Given the description of an element on the screen output the (x, y) to click on. 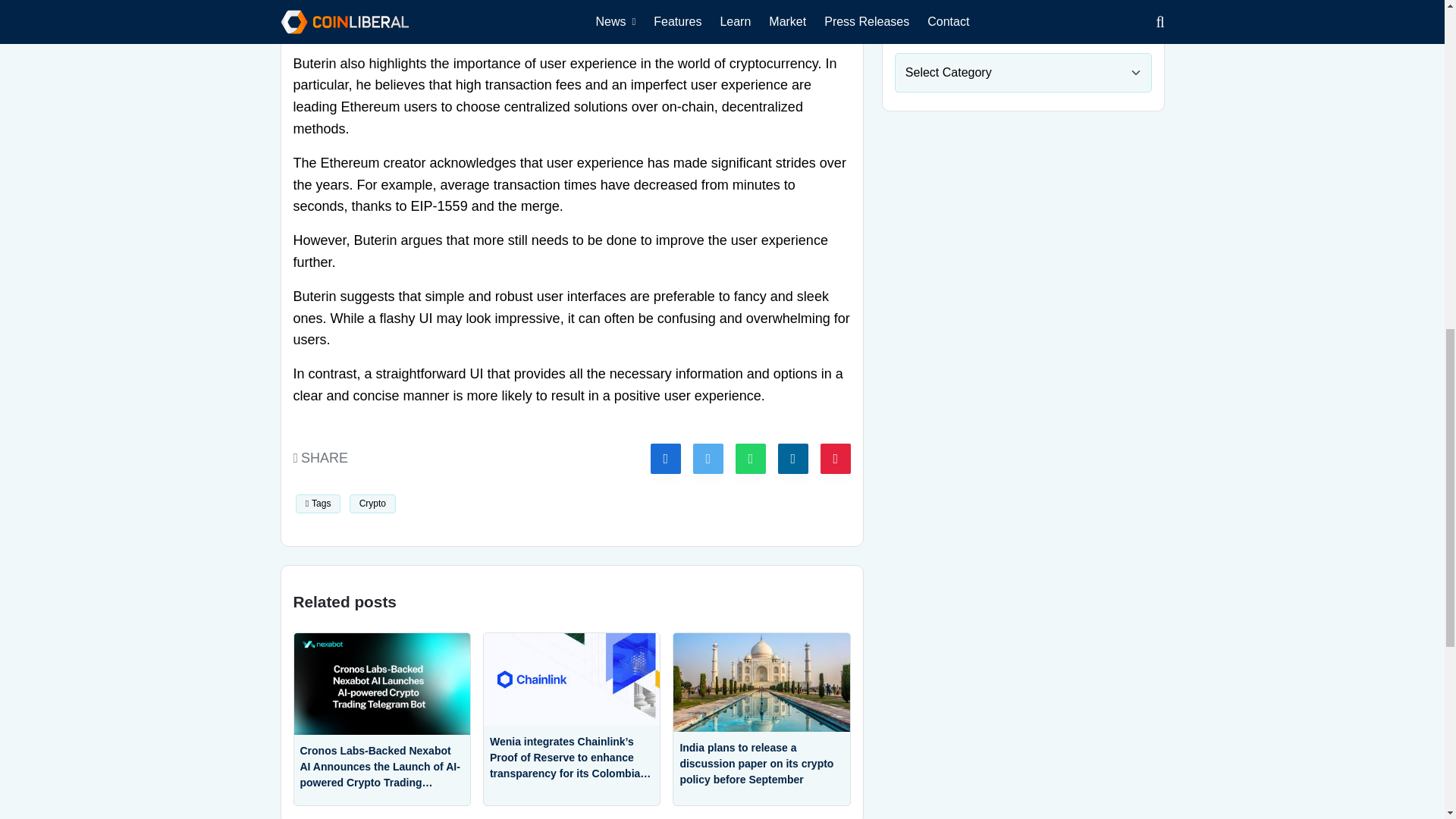
share on whatsapp (750, 458)
share on twitter (708, 458)
share on linkedin (792, 458)
Crypto (372, 503)
share on pinterest (835, 458)
share on facebook (665, 458)
